Given the description of an element on the screen output the (x, y) to click on. 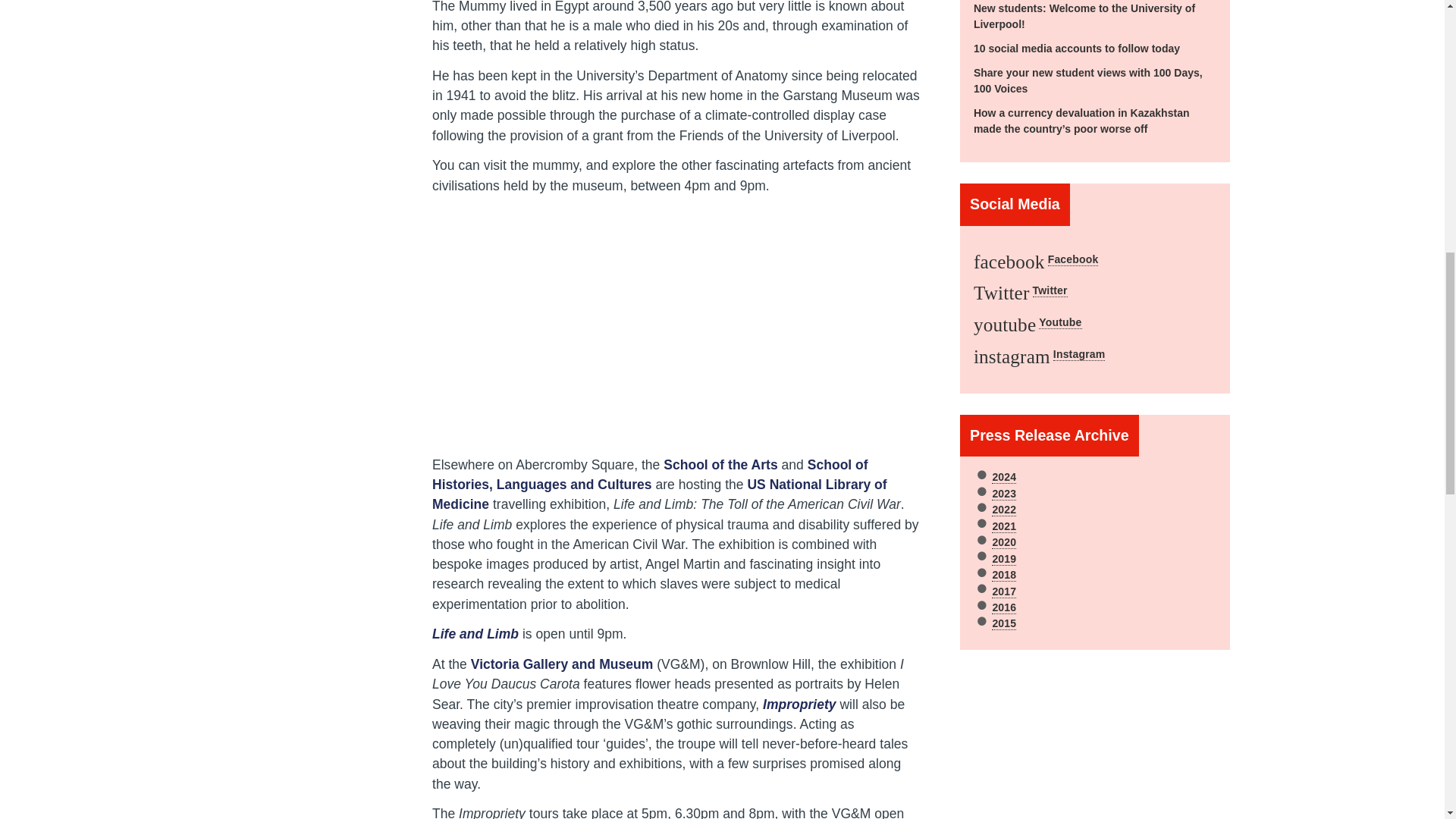
New students: Welcome to the University of Liverpool! (1084, 16)
10 social media accounts to follow today (1076, 48)
Share your new student views with 100 Days, 100 Voices (1088, 80)
